Given the description of an element on the screen output the (x, y) to click on. 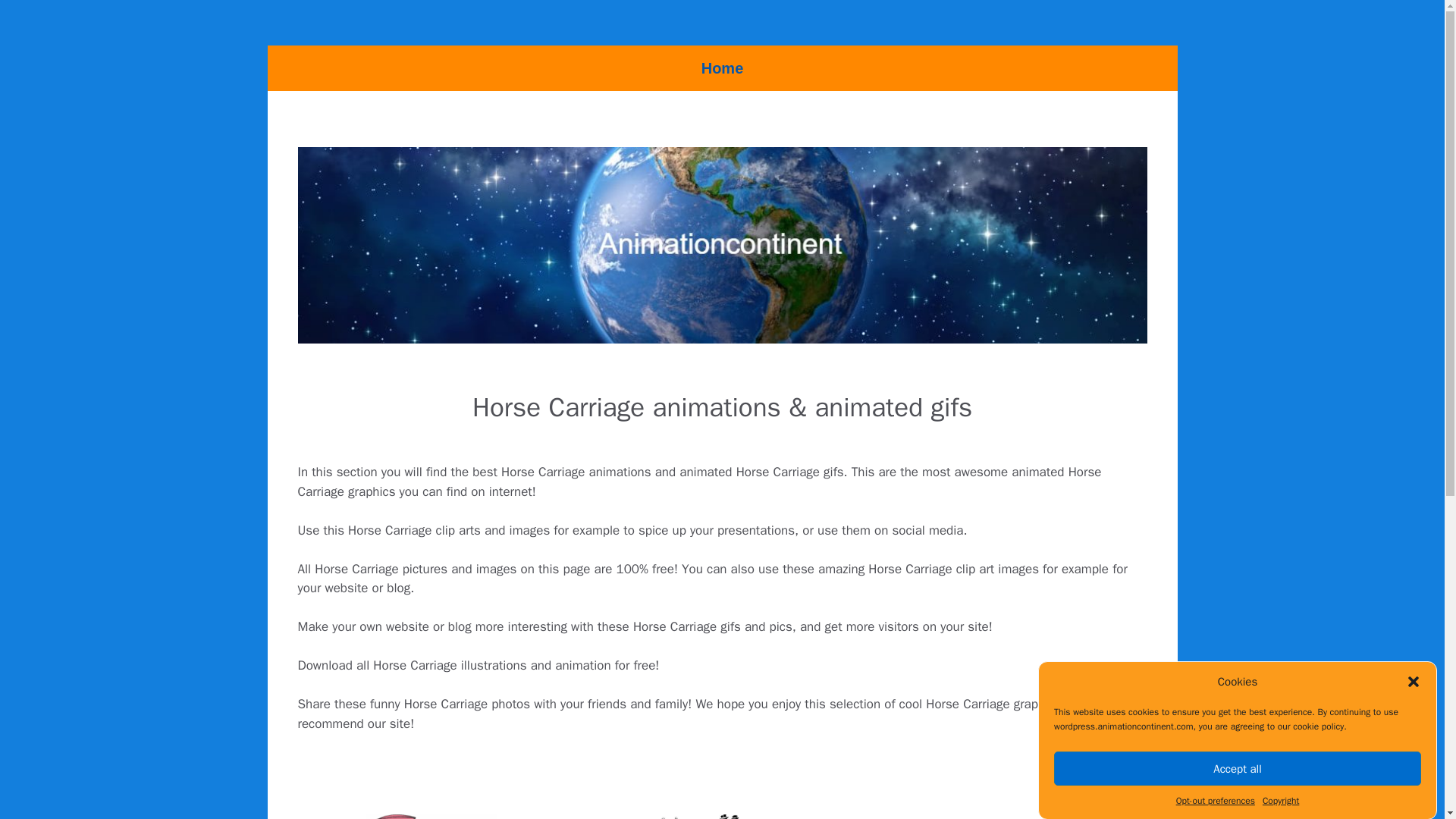
Home (721, 67)
